Given the description of an element on the screen output the (x, y) to click on. 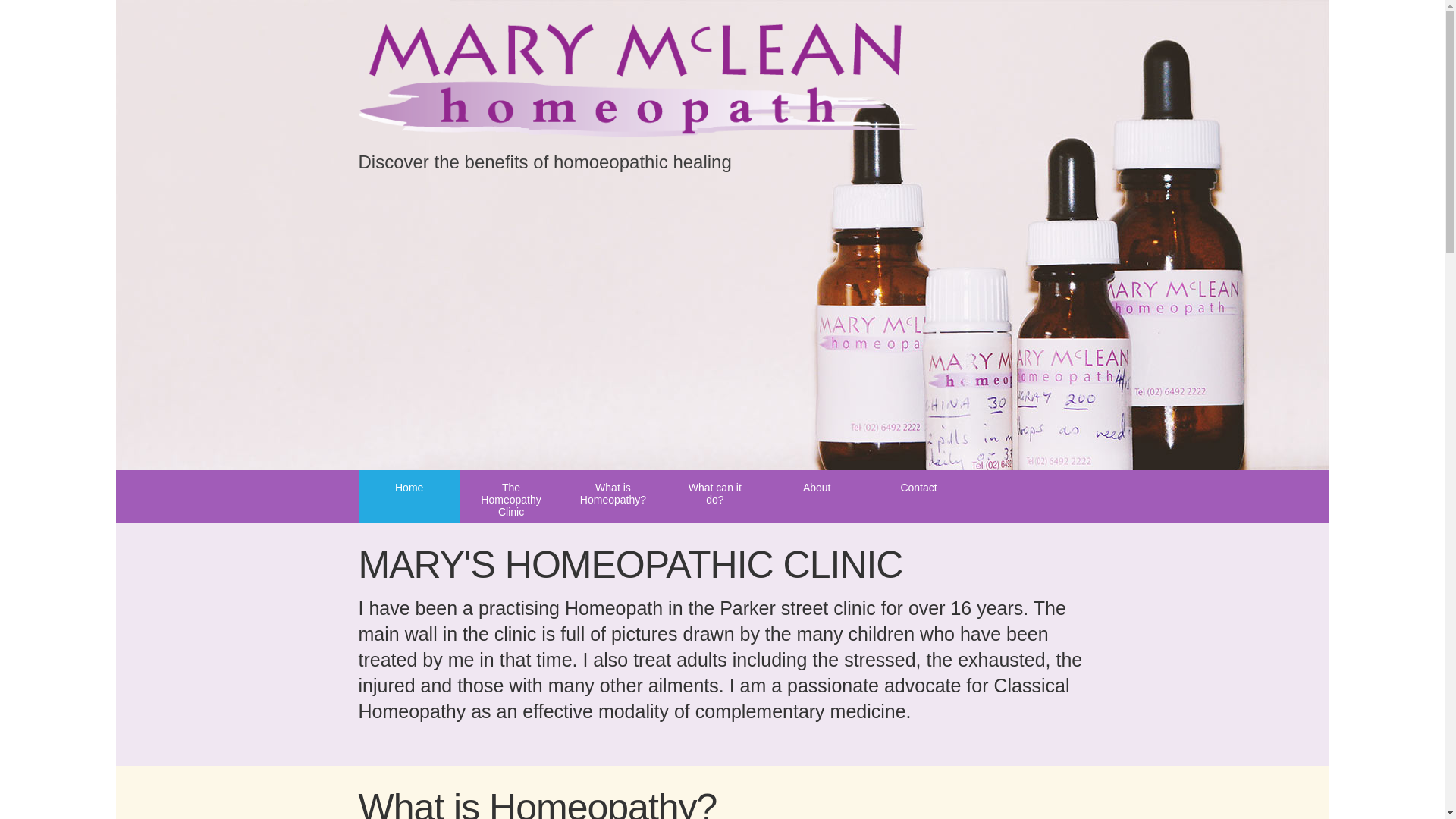
Contact Element type: text (918, 496)
Home Element type: text (408, 496)
What can it do? Element type: text (714, 496)
The Homeopathy Clinic Element type: text (510, 496)
What is Homeopathy? Element type: text (612, 496)
About Element type: text (816, 496)
